Given the description of an element on the screen output the (x, y) to click on. 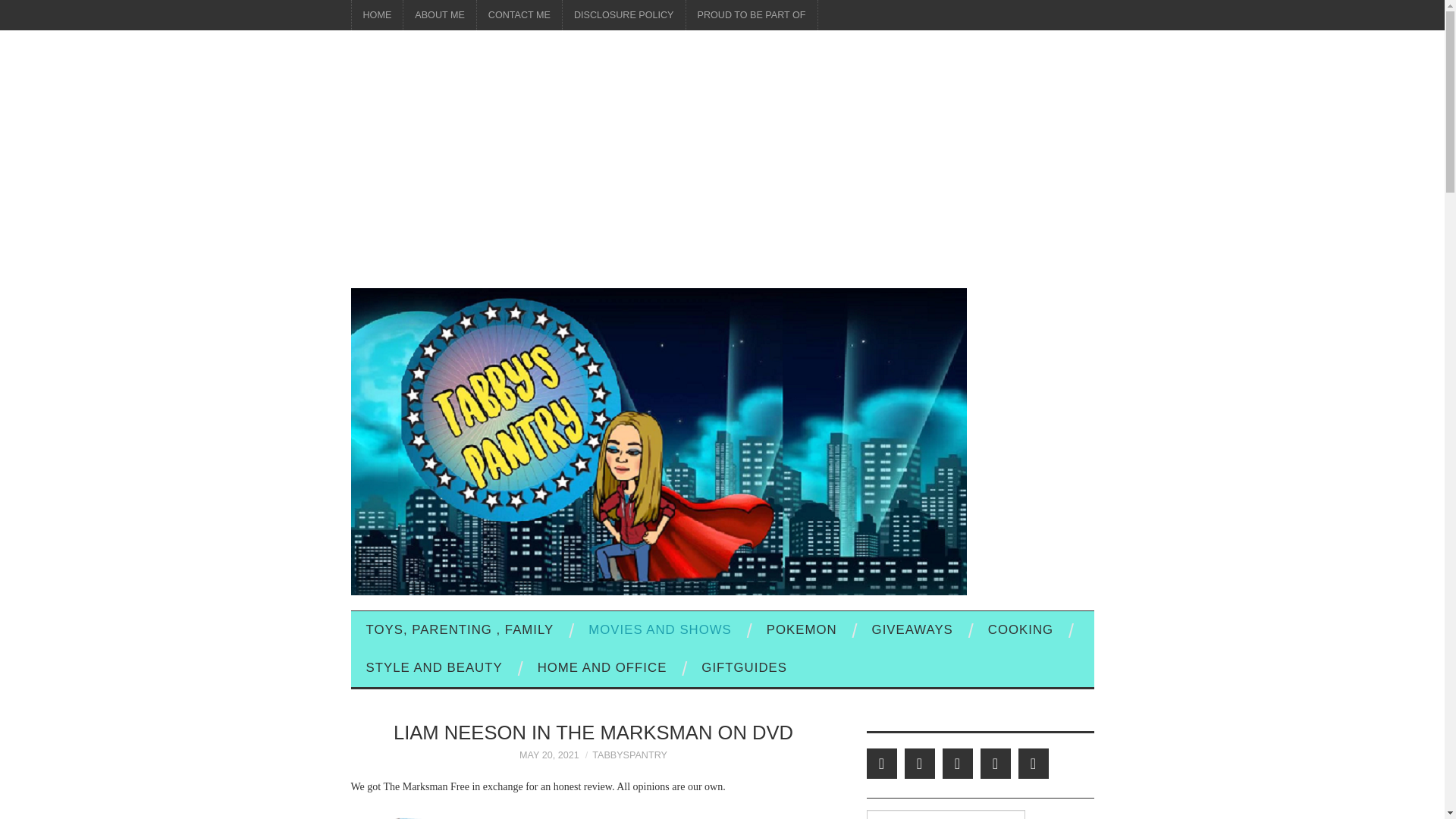
GIVEAWAYS (912, 629)
Facebook (919, 763)
STYLE AND BEAUTY (433, 668)
COOKING (1020, 629)
Pinterest (957, 763)
Instagram (1032, 763)
MOVIES AND SHOWS (659, 629)
ABOUT ME (439, 15)
POKEMON (801, 629)
HOME AND OFFICE (602, 668)
GIFTGUIDES (743, 668)
CONTACT ME (519, 15)
PROUD TO BE PART OF (750, 15)
TABBYSPANTRY (629, 755)
